Given the description of an element on the screen output the (x, y) to click on. 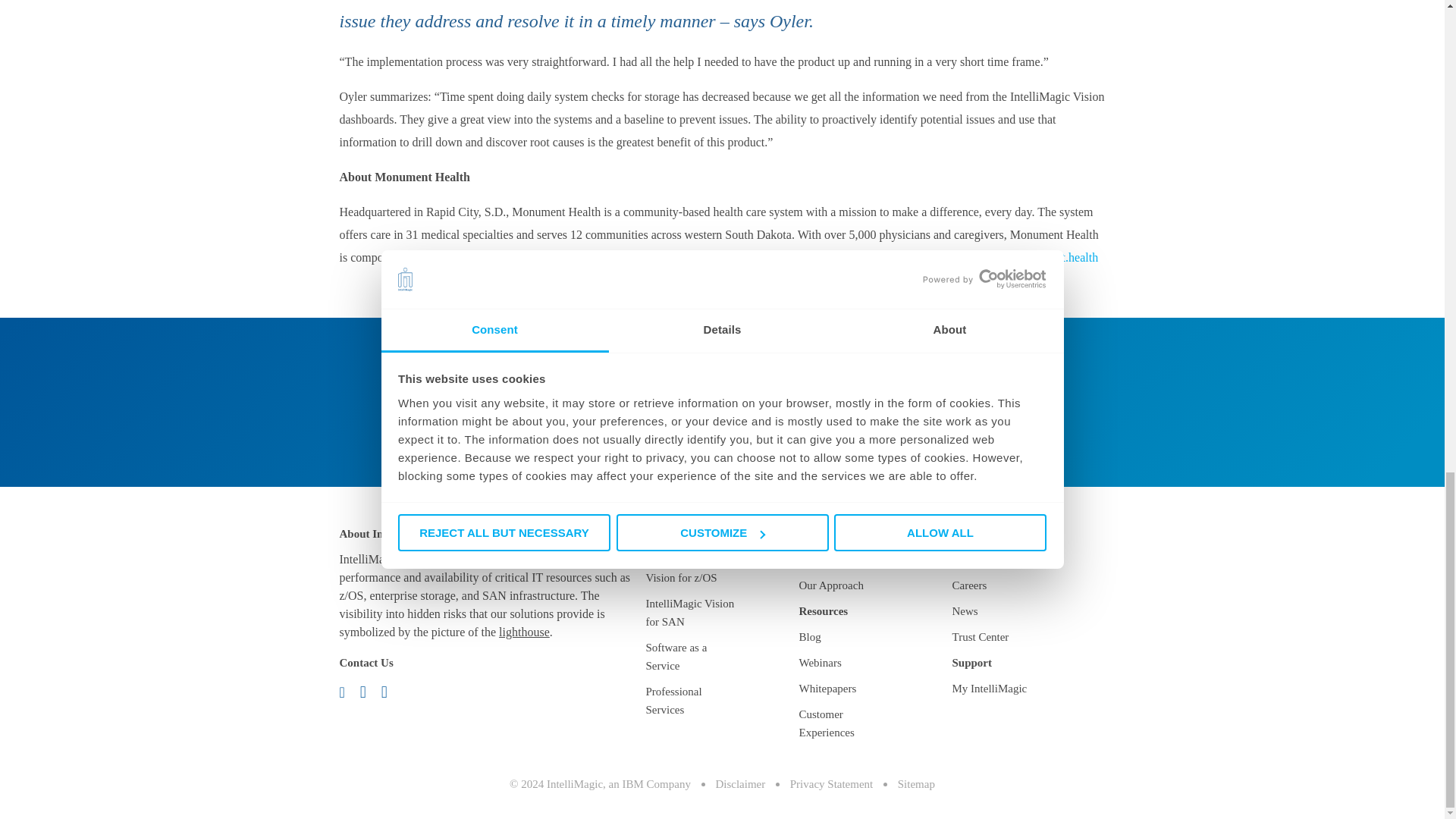
Schedule a Demo (817, 438)
email (347, 690)
Request a Free Trial (638, 438)
call (368, 690)
